Given the description of an element on the screen output the (x, y) to click on. 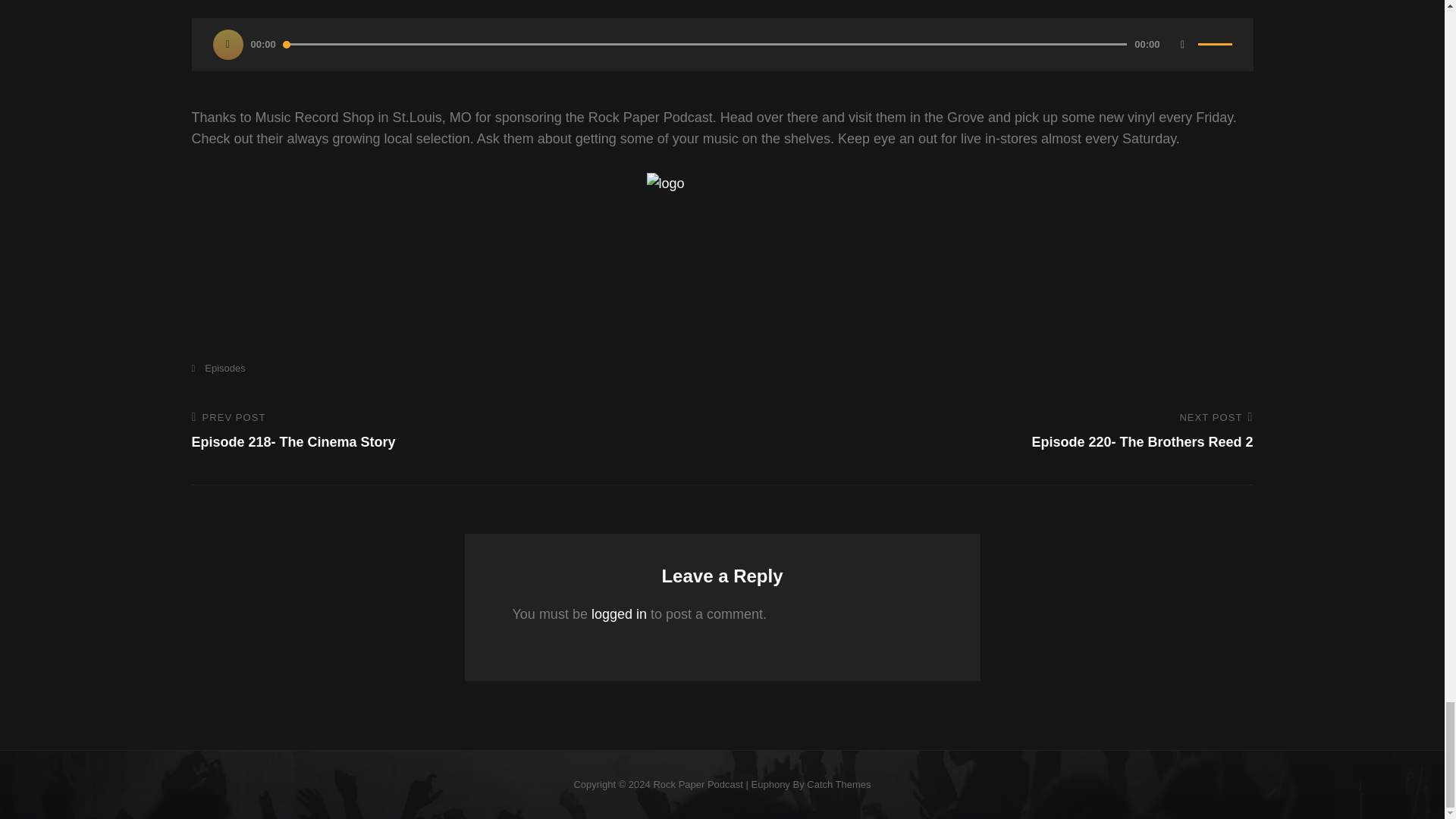
Catch Themes (838, 784)
Rock Paper Podcast (445, 431)
Episodes (697, 784)
logged in (997, 431)
Play (217, 367)
Mute (618, 613)
